Given the description of an element on the screen output the (x, y) to click on. 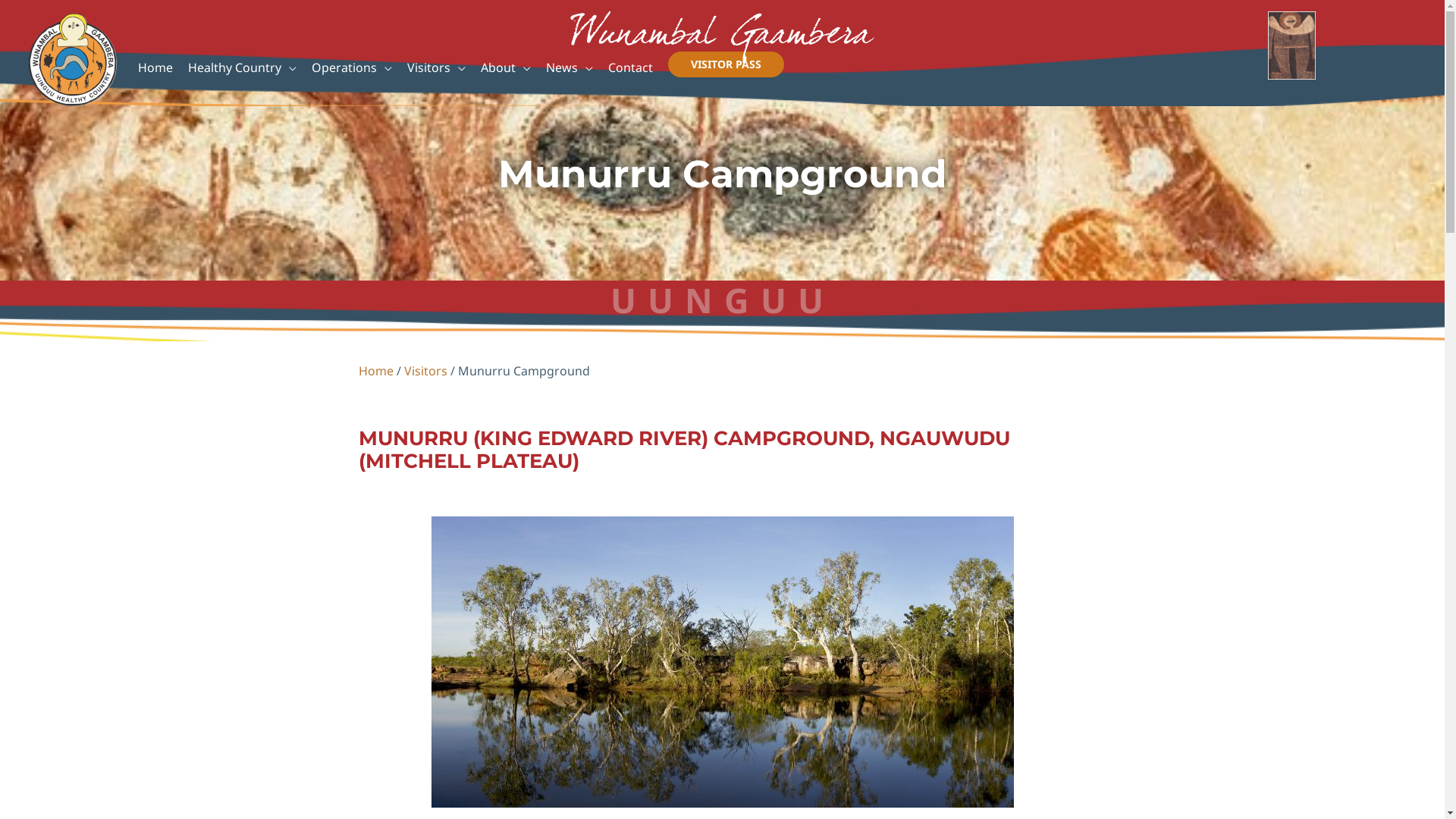
Operations Element type: text (351, 70)
Visitors Element type: text (436, 70)
Contact Element type: text (630, 70)
Home Element type: text (374, 370)
News Element type: text (569, 70)
Home Element type: text (155, 70)
Healthy Country Element type: text (242, 70)
Visitors Element type: text (424, 370)
VISITOR PASS Element type: text (726, 64)
About Element type: text (505, 70)
